Given the description of an element on the screen output the (x, y) to click on. 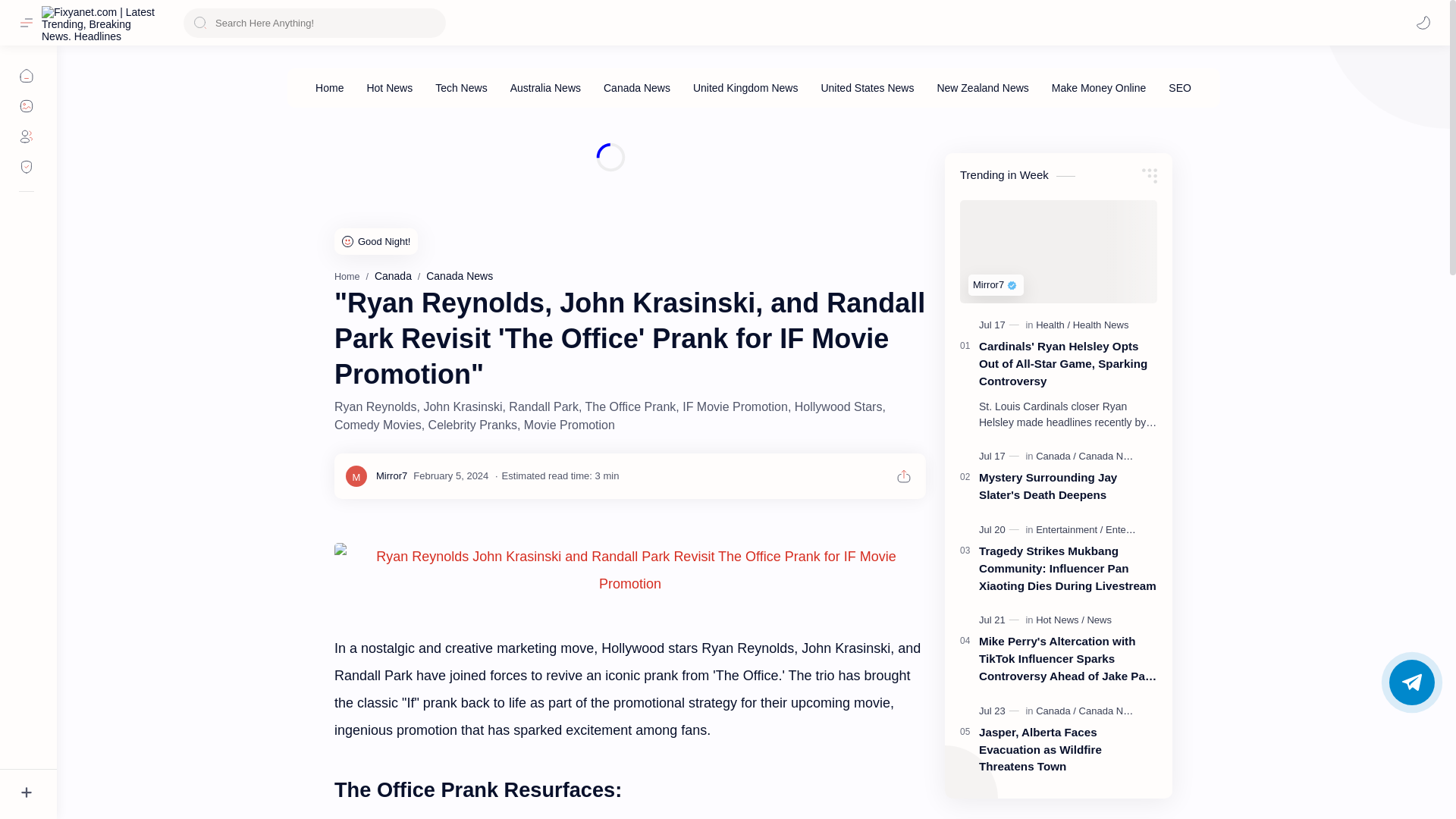
Published: July 21, 2024 (1000, 620)
Canada (393, 275)
Published: July 23, 2024 (1000, 711)
Published: July 17, 2024 (1000, 456)
Published: February 5, 2024 (450, 475)
Home (346, 276)
Published: July 20, 2024 (1000, 530)
Published: July 17, 2024 (1000, 325)
Canada News (459, 275)
